Given the description of an element on the screen output the (x, y) to click on. 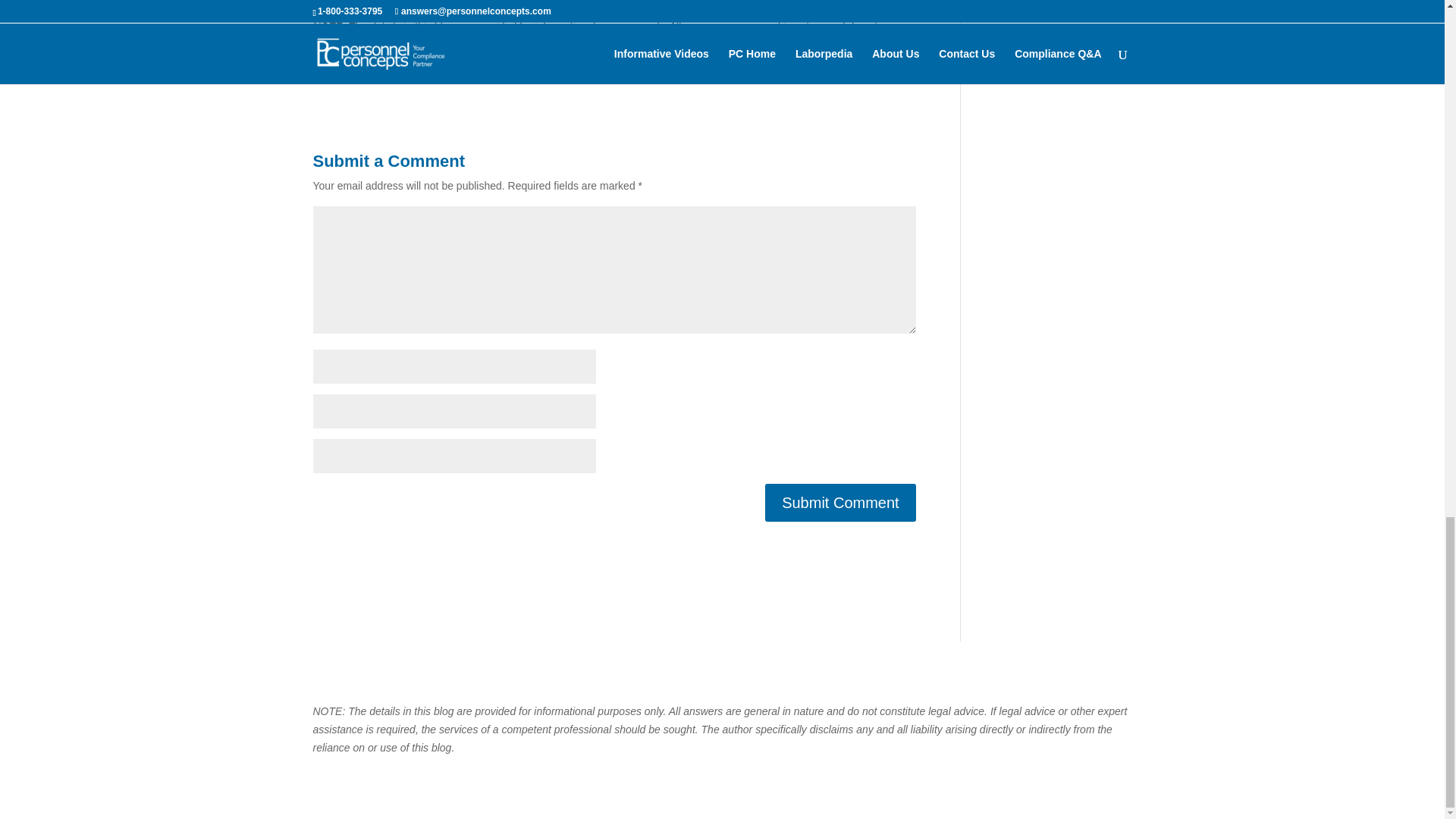
Submit Comment (840, 502)
Submit Comment (840, 502)
